Given the description of an element on the screen output the (x, y) to click on. 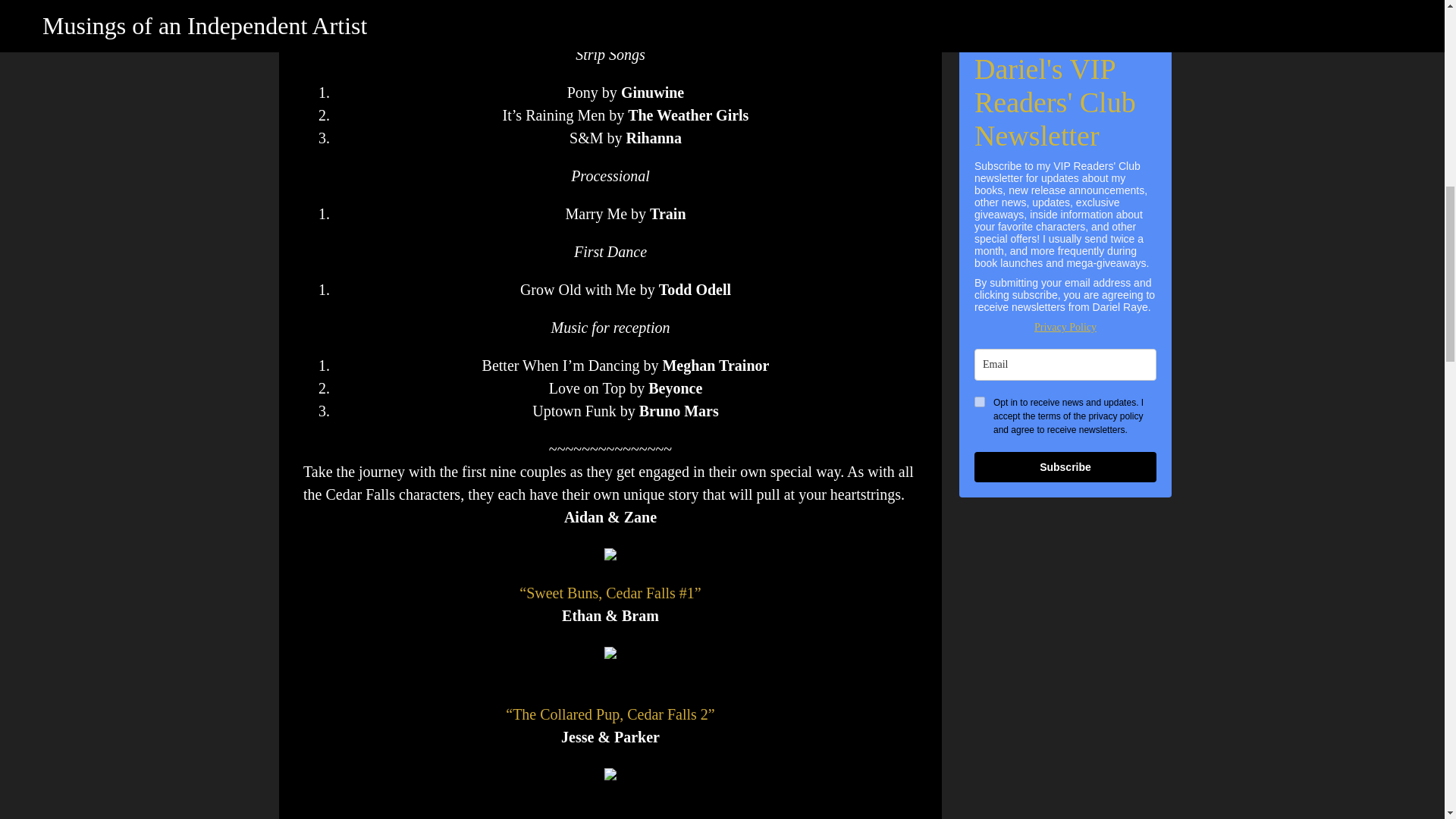
on (979, 401)
